Given the description of an element on the screen output the (x, y) to click on. 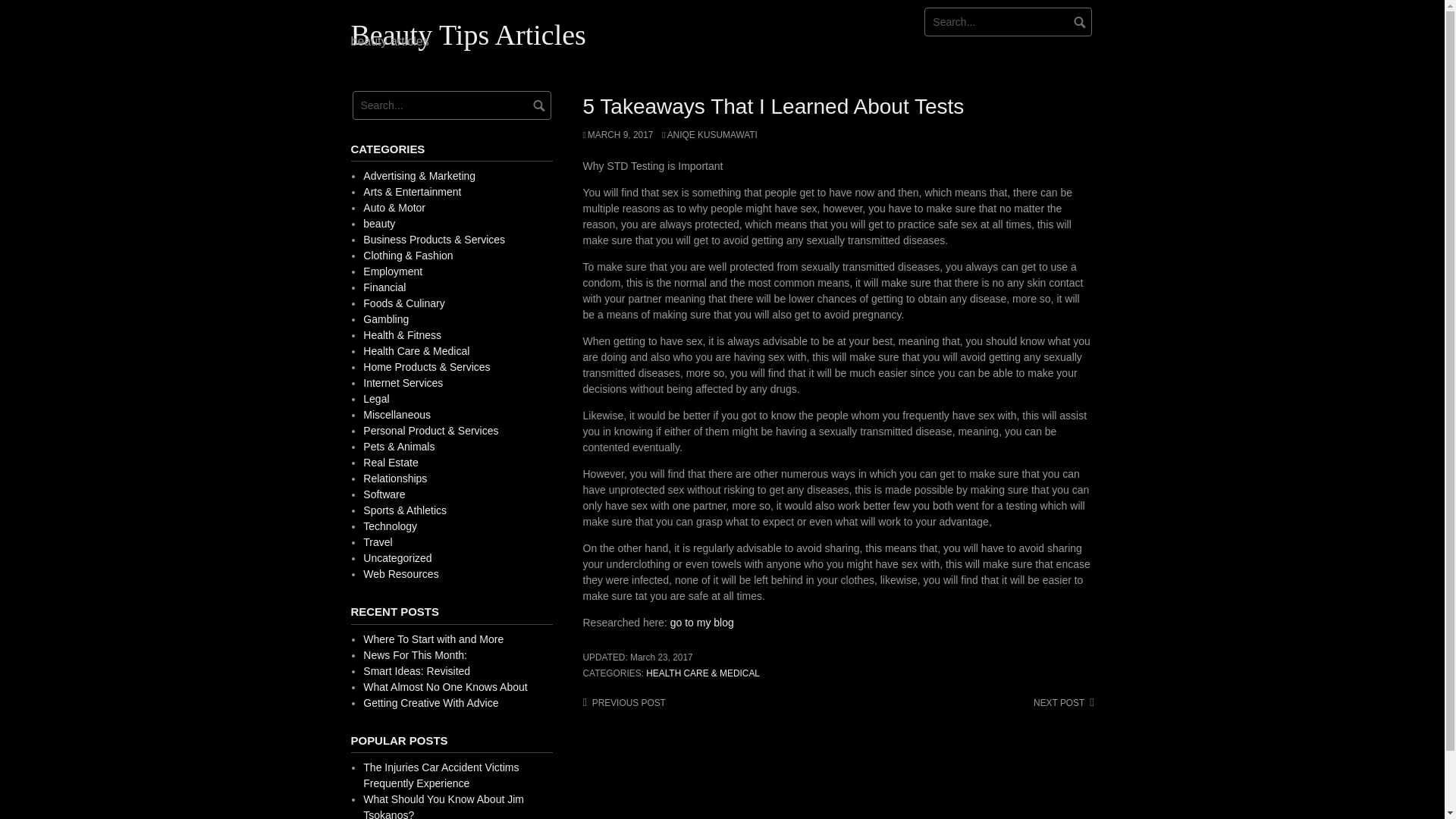
Uncategorized (396, 558)
NEXT POST (1063, 702)
ANIQE KUSUMAWATI (709, 134)
The Injuries Car Accident Victims Frequently Experience (440, 775)
Gambling (385, 318)
March 23, 2017 (661, 656)
go to my blog (701, 622)
Employment (392, 271)
Technology (389, 526)
Relationships (394, 478)
